Given the description of an element on the screen output the (x, y) to click on. 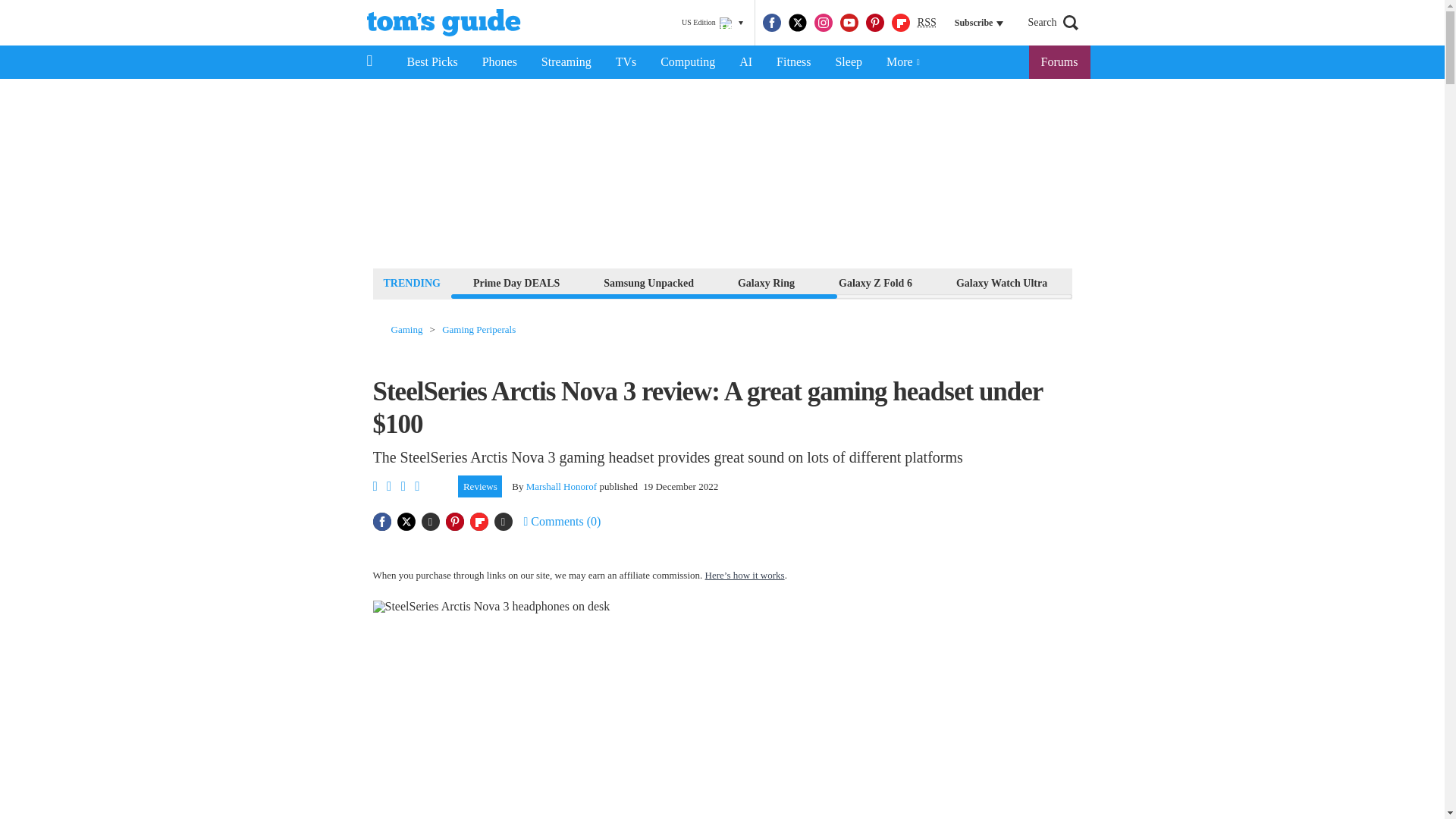
US Edition (712, 22)
Best Picks (431, 61)
Streaming (566, 61)
TVs (626, 61)
AI (745, 61)
Really Simple Syndication (926, 21)
RSS (926, 22)
Sleep (848, 61)
Phones (499, 61)
Fitness (793, 61)
Computing (686, 61)
